Given the description of an element on the screen output the (x, y) to click on. 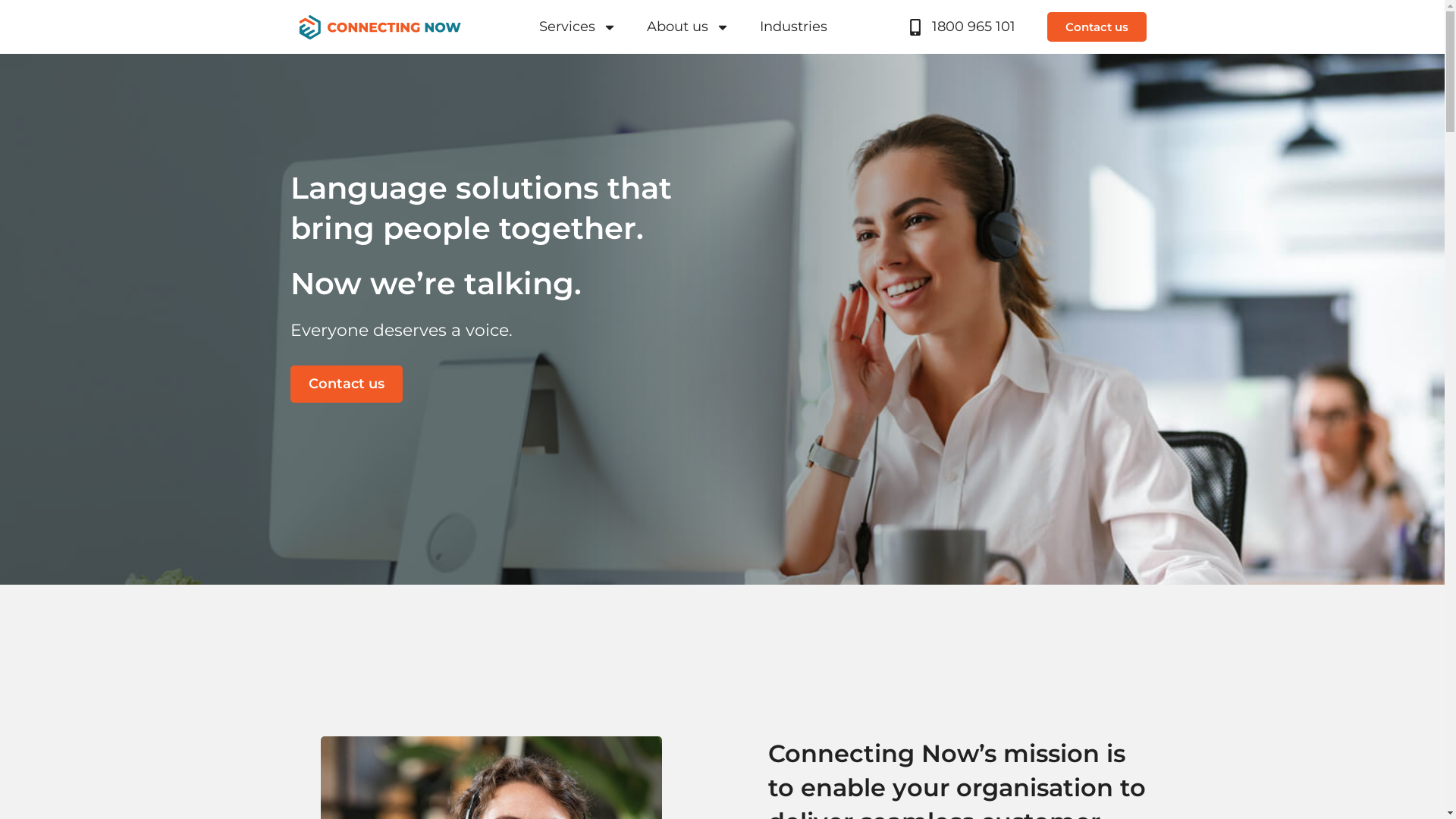
1800 965 101 Element type: text (960, 26)
Contact us Element type: text (345, 383)
Industries Element type: text (793, 26)
Services Element type: text (577, 26)
About us Element type: text (687, 26)
Contact us Element type: text (1096, 26)
